Given the description of an element on the screen output the (x, y) to click on. 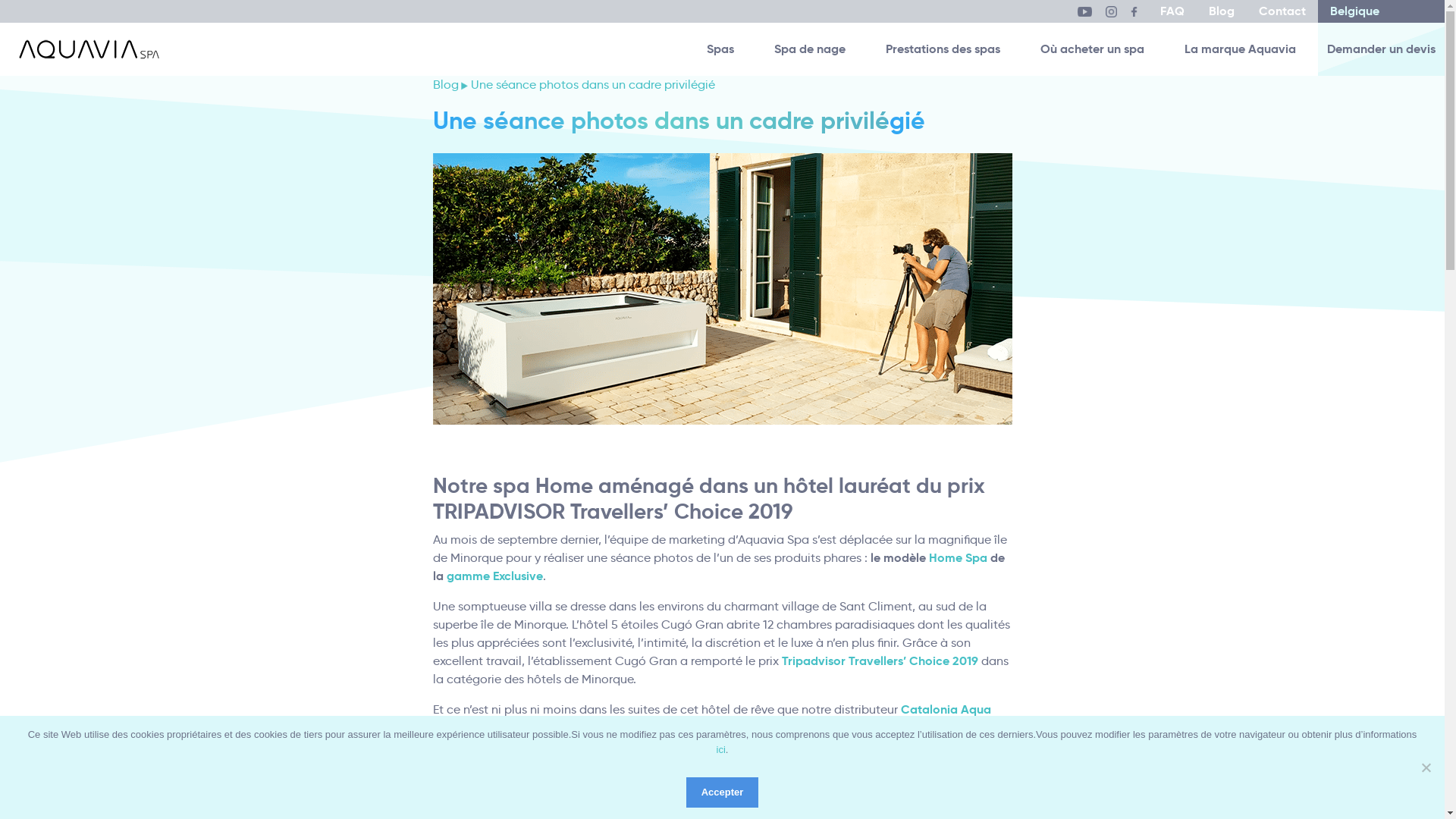
Blog Element type: text (1221, 10)
Spa de nage Element type: text (809, 48)
La marque Aquavia Element type: text (1239, 48)
No Element type: hover (1425, 767)
ici Element type: text (720, 749)
Contact Element type: text (1281, 10)
Demander un devis Element type: text (1380, 48)
Home Spa Element type: text (608, 727)
Accepter Element type: text (722, 792)
Blog Element type: text (445, 84)
Prestations des spas Element type: text (942, 48)
FAQ Element type: text (1172, 10)
Spas Element type: text (720, 48)
gamme Exclusive Element type: text (492, 575)
Catalonia Aqua Grup Element type: text (711, 718)
Home Spa Element type: text (957, 557)
